Given the description of an element on the screen output the (x, y) to click on. 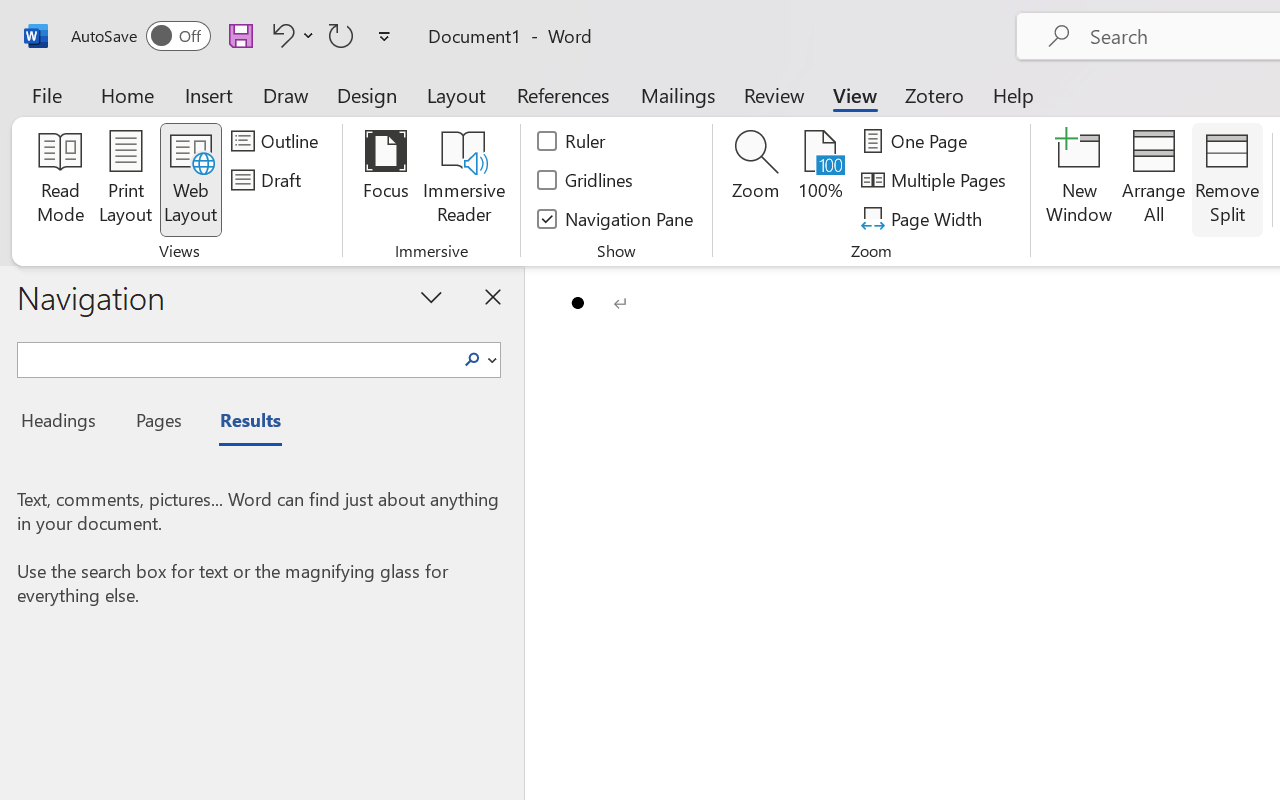
Repeat Bullet Default (341, 35)
100% (820, 179)
Search document (236, 357)
Focus (385, 179)
Gridlines (586, 179)
Immersive Reader (464, 179)
Headings (64, 423)
Arrange All (1153, 179)
One Page (917, 141)
